Given the description of an element on the screen output the (x, y) to click on. 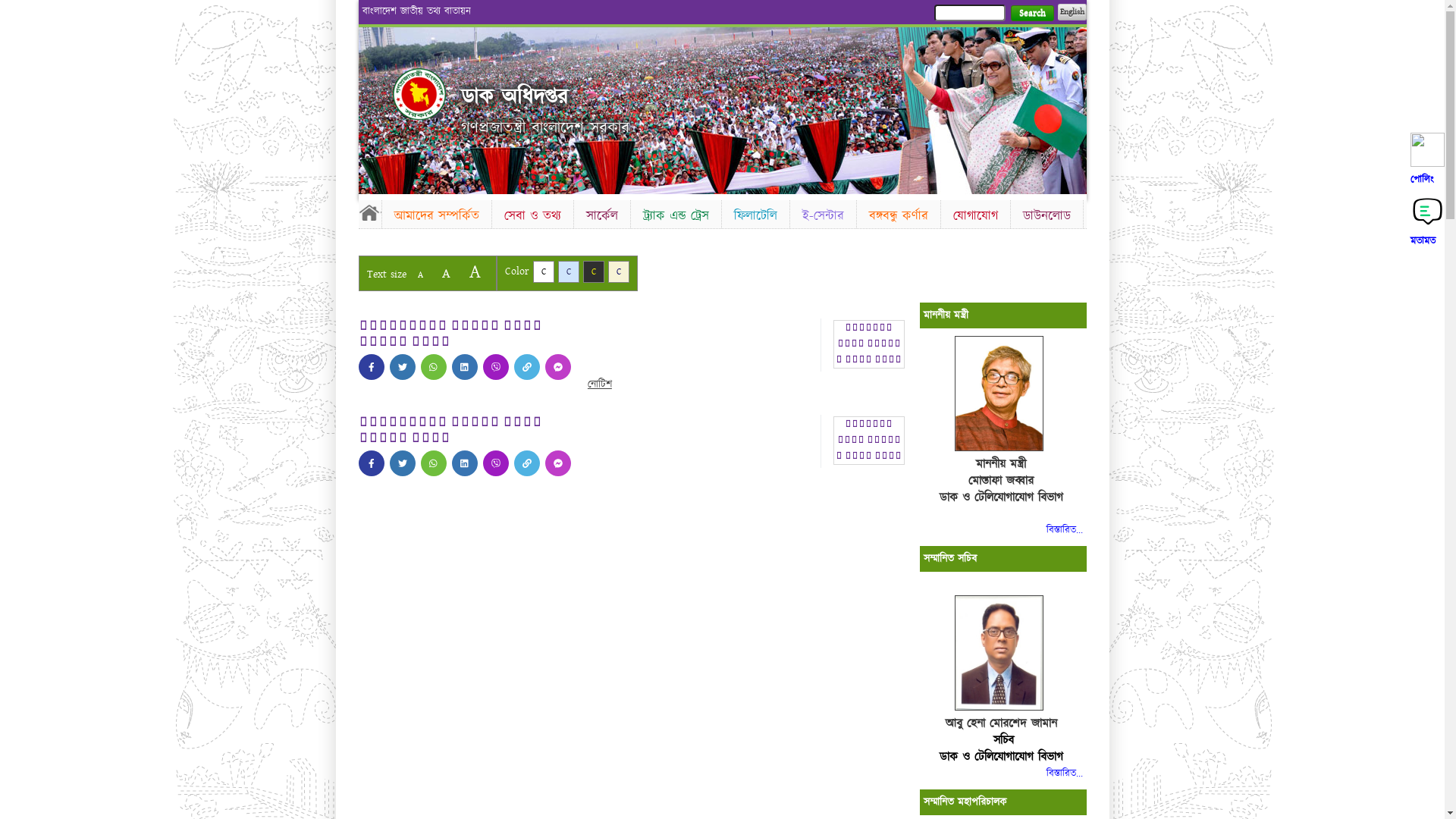
C Element type: text (592, 271)
A Element type: text (419, 274)
English Element type: text (1071, 11)
A Element type: text (445, 273)
A Element type: text (474, 271)
Home Element type: hover (418, 93)
C Element type: text (568, 271)
C Element type: text (618, 271)
C Element type: text (542, 271)
Search Element type: text (1031, 13)
Home Element type: hover (368, 211)
